Given the description of an element on the screen output the (x, y) to click on. 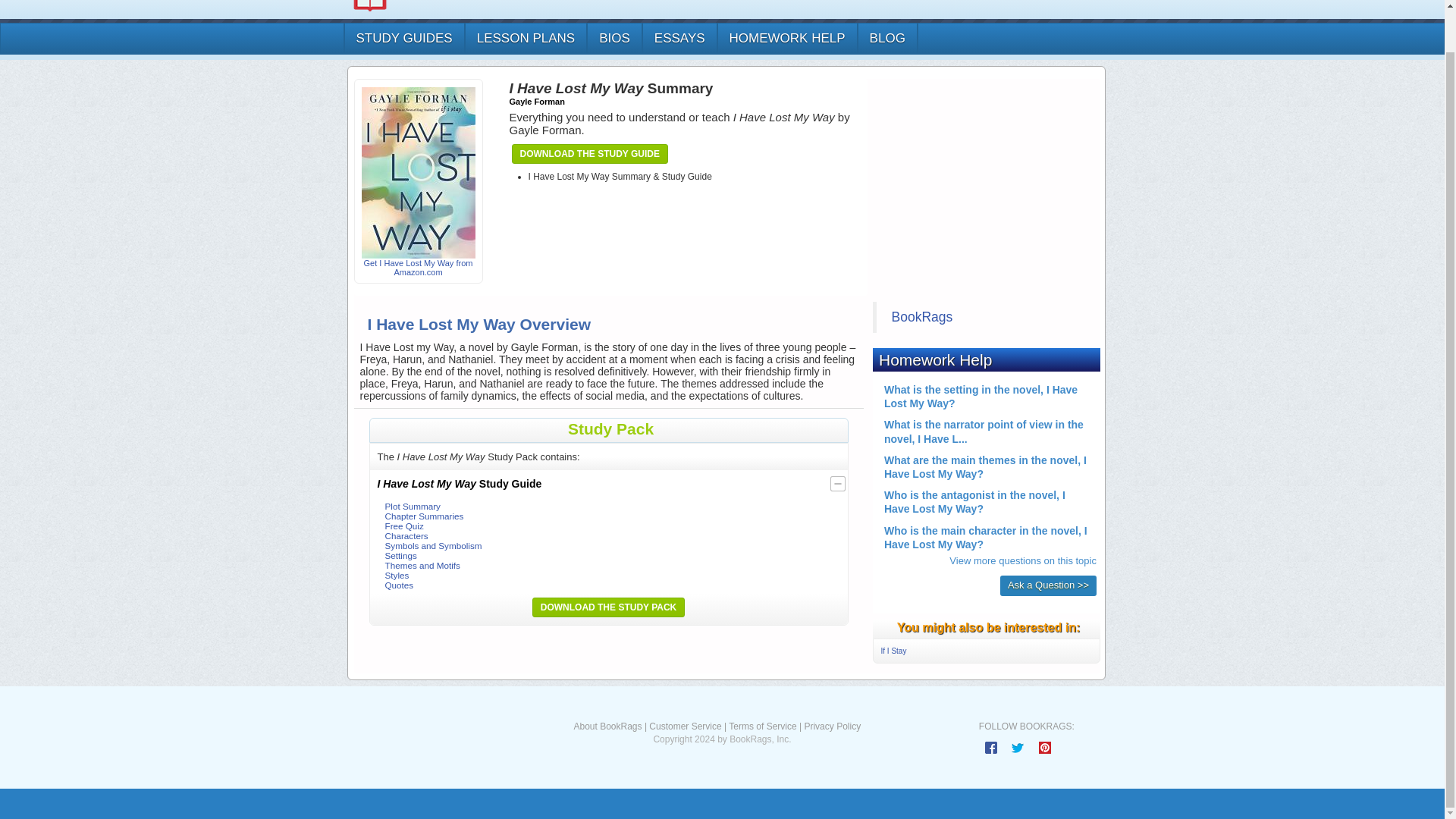
Terms of Service (762, 726)
About BookRags (607, 726)
DOWNLOAD THE STUDY GUIDE (589, 153)
BLOG (887, 38)
Privacy Policy (831, 726)
If I Stay (893, 651)
DOWNLOAD THE STUDY PACK (608, 607)
HOMEWORK HELP (786, 38)
Themes and Motifs (422, 565)
ESSAYS (679, 38)
BookRags (922, 316)
Free Quiz (404, 525)
Styles (397, 574)
Chapter Summaries (424, 515)
If I Stay (893, 651)
